Given the description of an element on the screen output the (x, y) to click on. 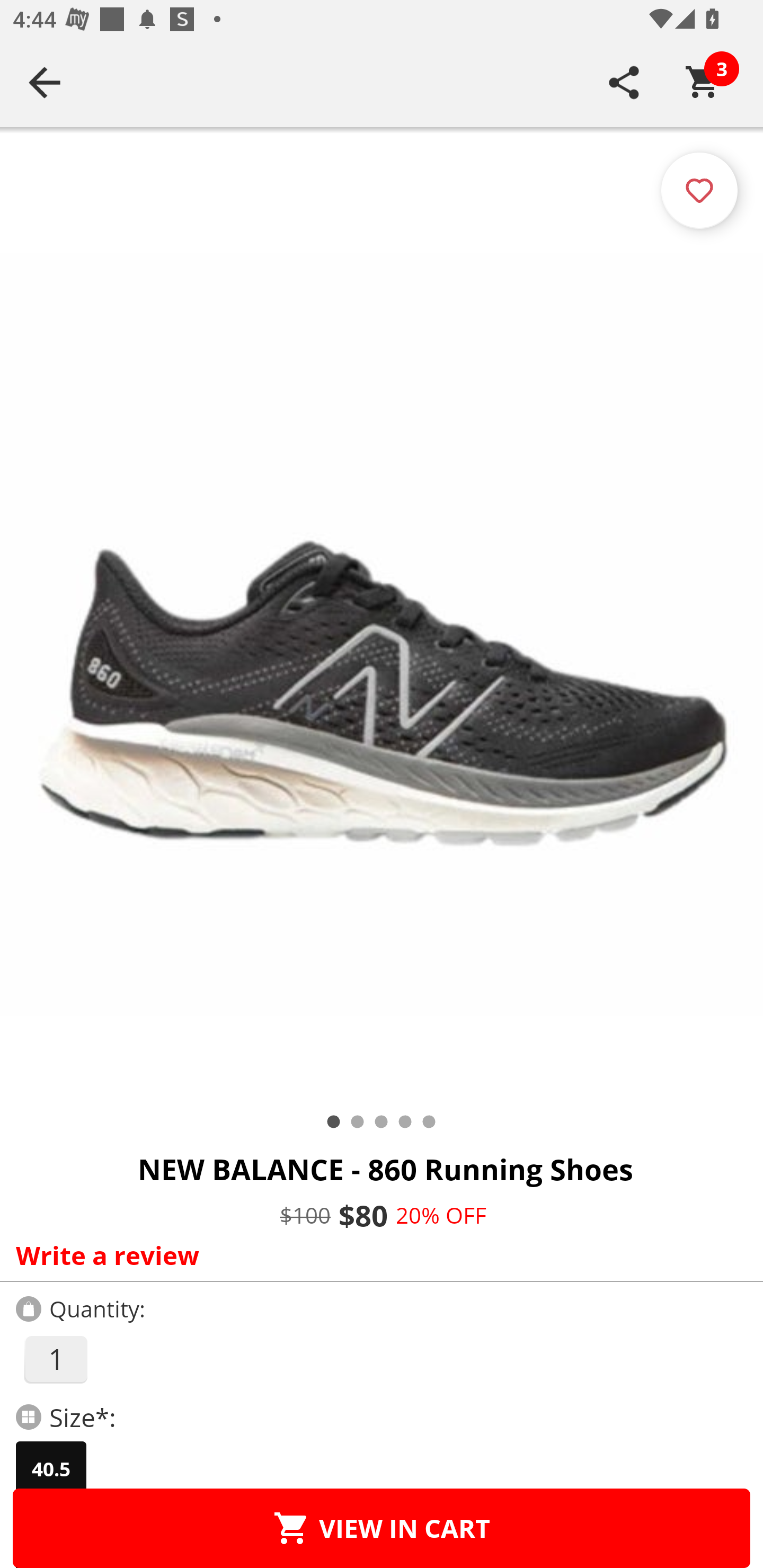
Navigate up (44, 82)
SHARE (623, 82)
Cart (703, 81)
Write a review (377, 1255)
1 (55, 1358)
40.5 (51, 1468)
VIEW IN CART (381, 1528)
